Given the description of an element on the screen output the (x, y) to click on. 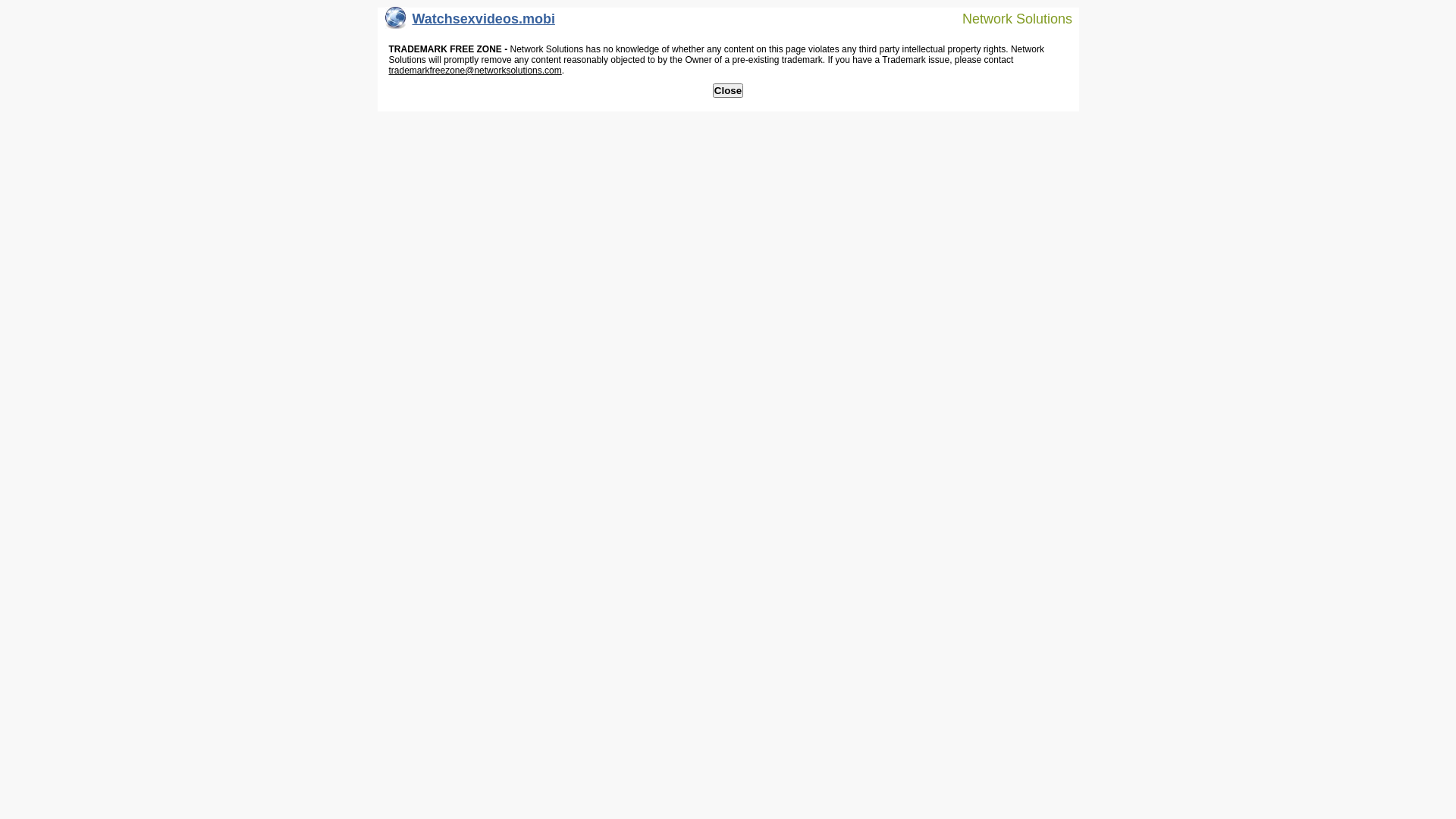
trademarkfreezone@networksolutions.com Element type: text (474, 70)
Watchsexvideos.mobi Element type: text (470, 21)
Close Element type: text (727, 90)
Network Solutions Element type: text (1007, 17)
